Given the description of an element on the screen output the (x, y) to click on. 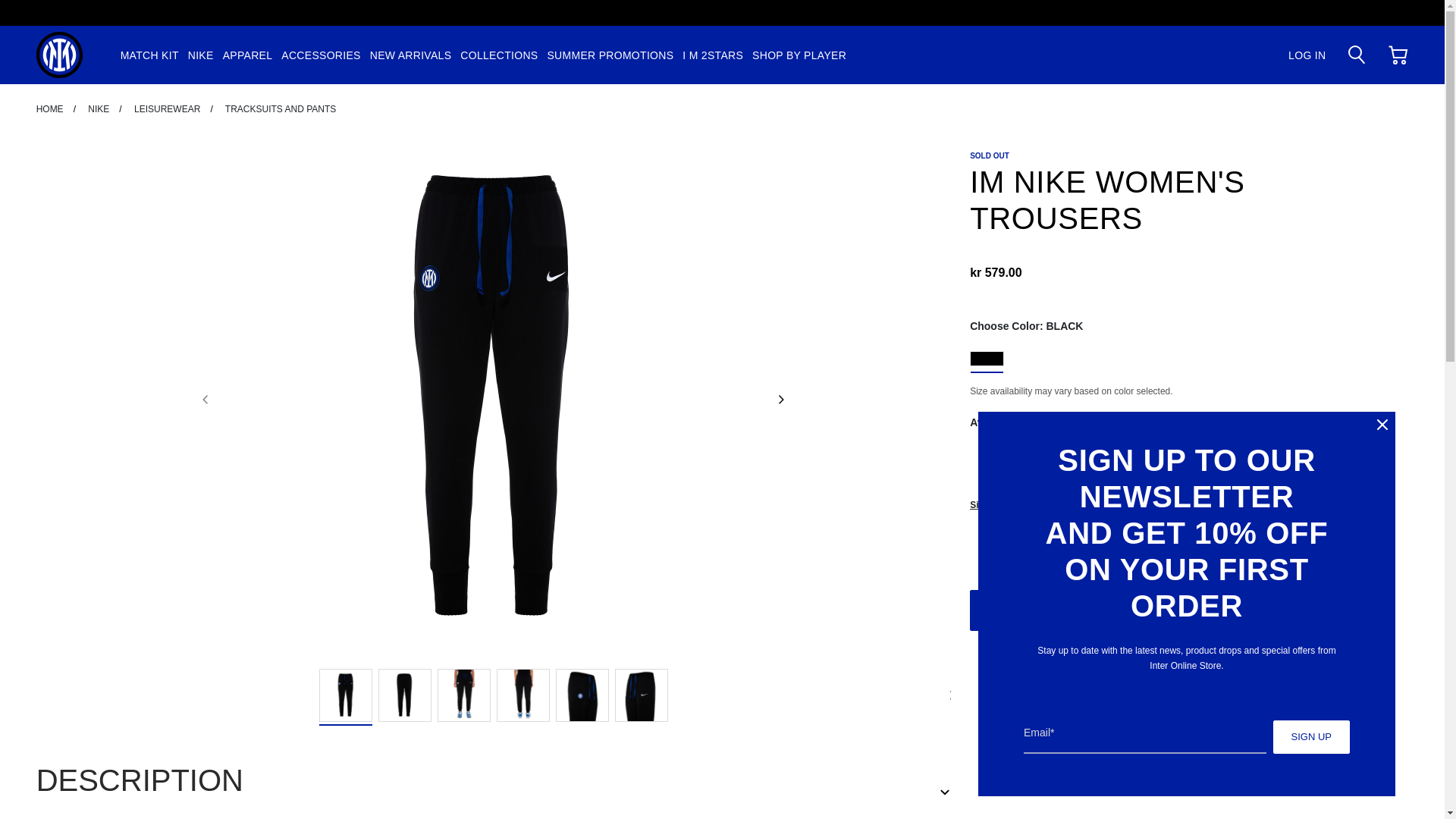
Cart 0 Items (1398, 53)
Inter Online Store (59, 54)
